Given the description of an element on the screen output the (x, y) to click on. 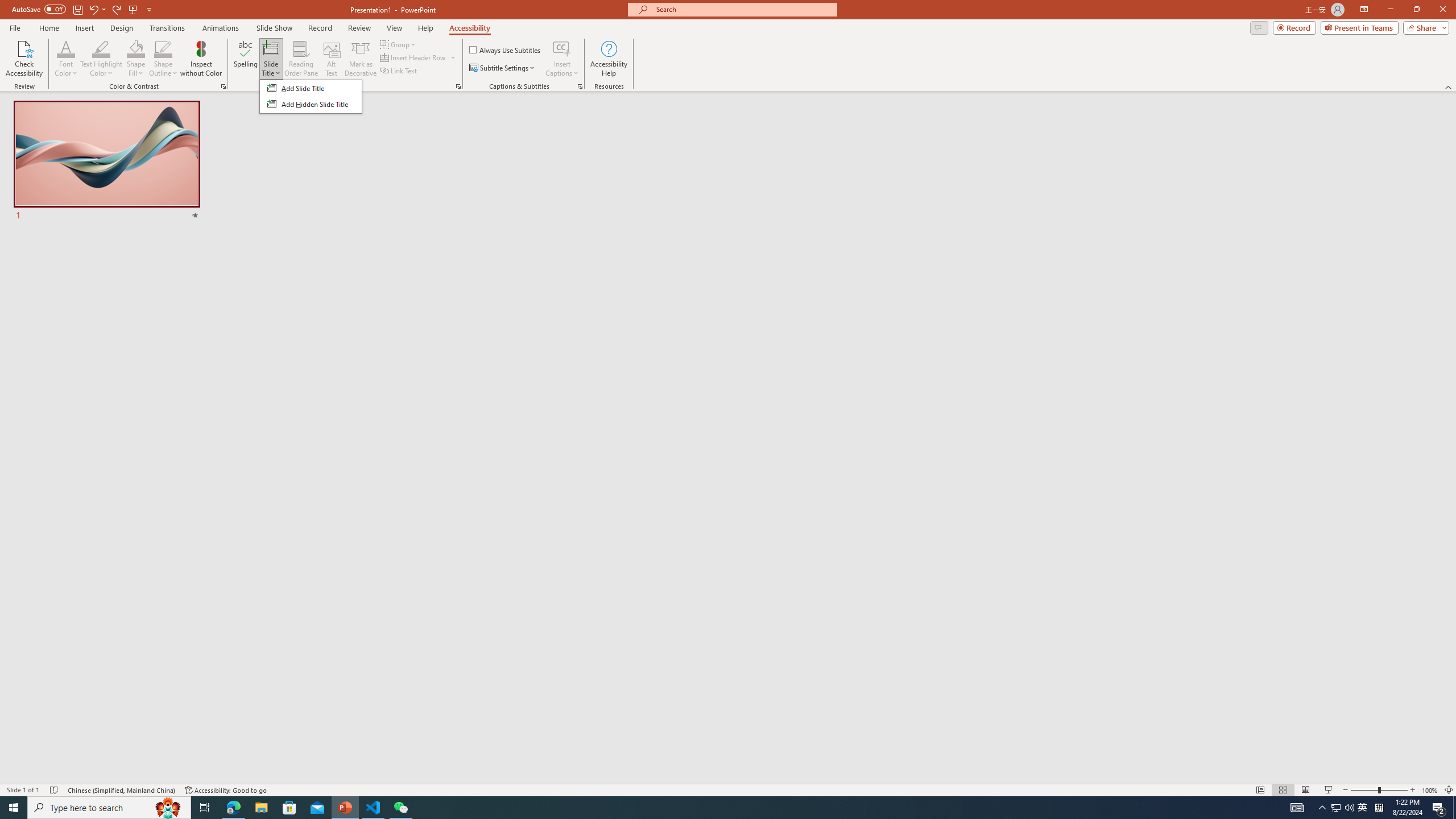
Slide &Title (310, 96)
